Given the description of an element on the screen output the (x, y) to click on. 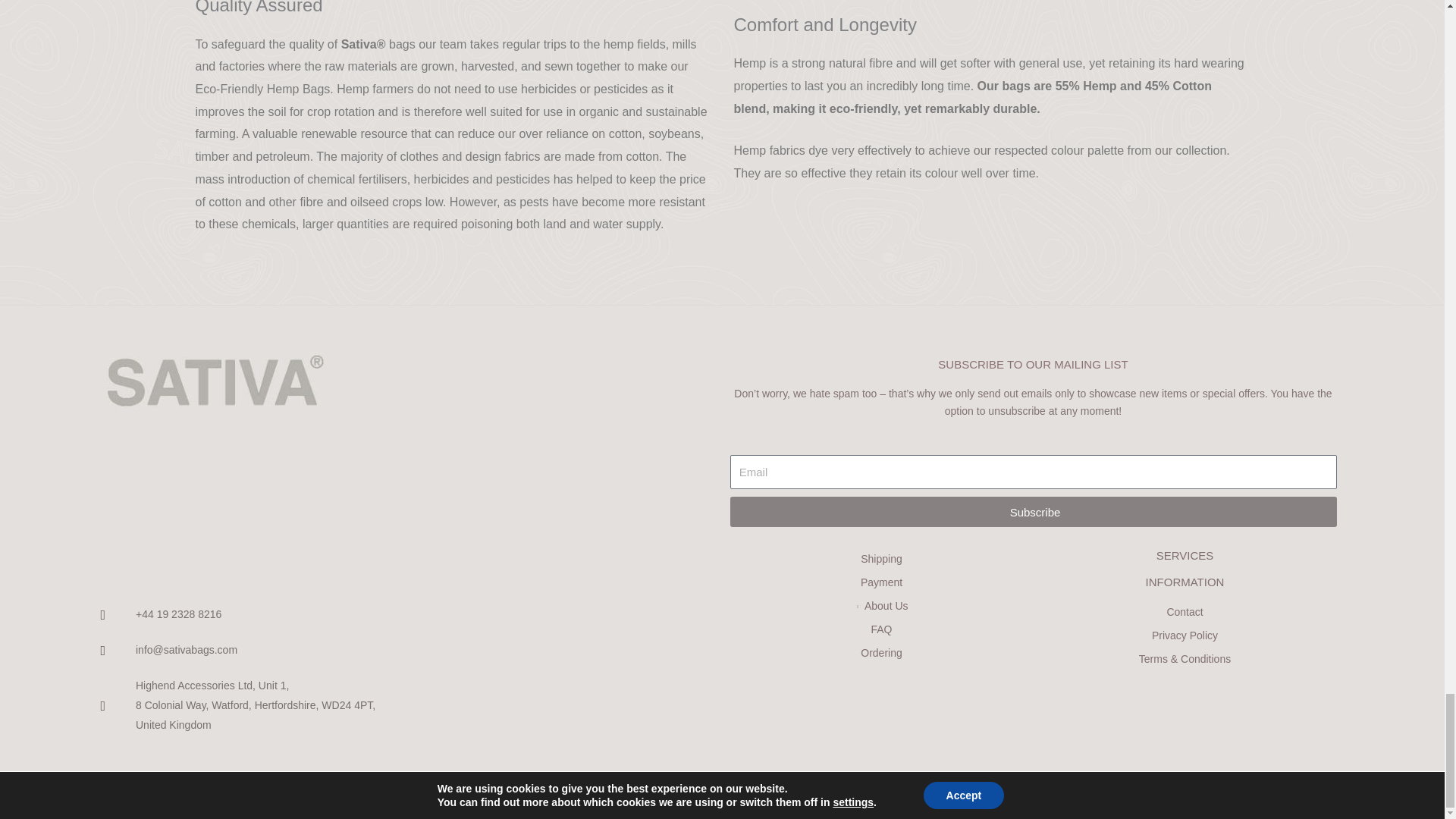
Sativa Bags (392, 492)
